Given the description of an element on the screen output the (x, y) to click on. 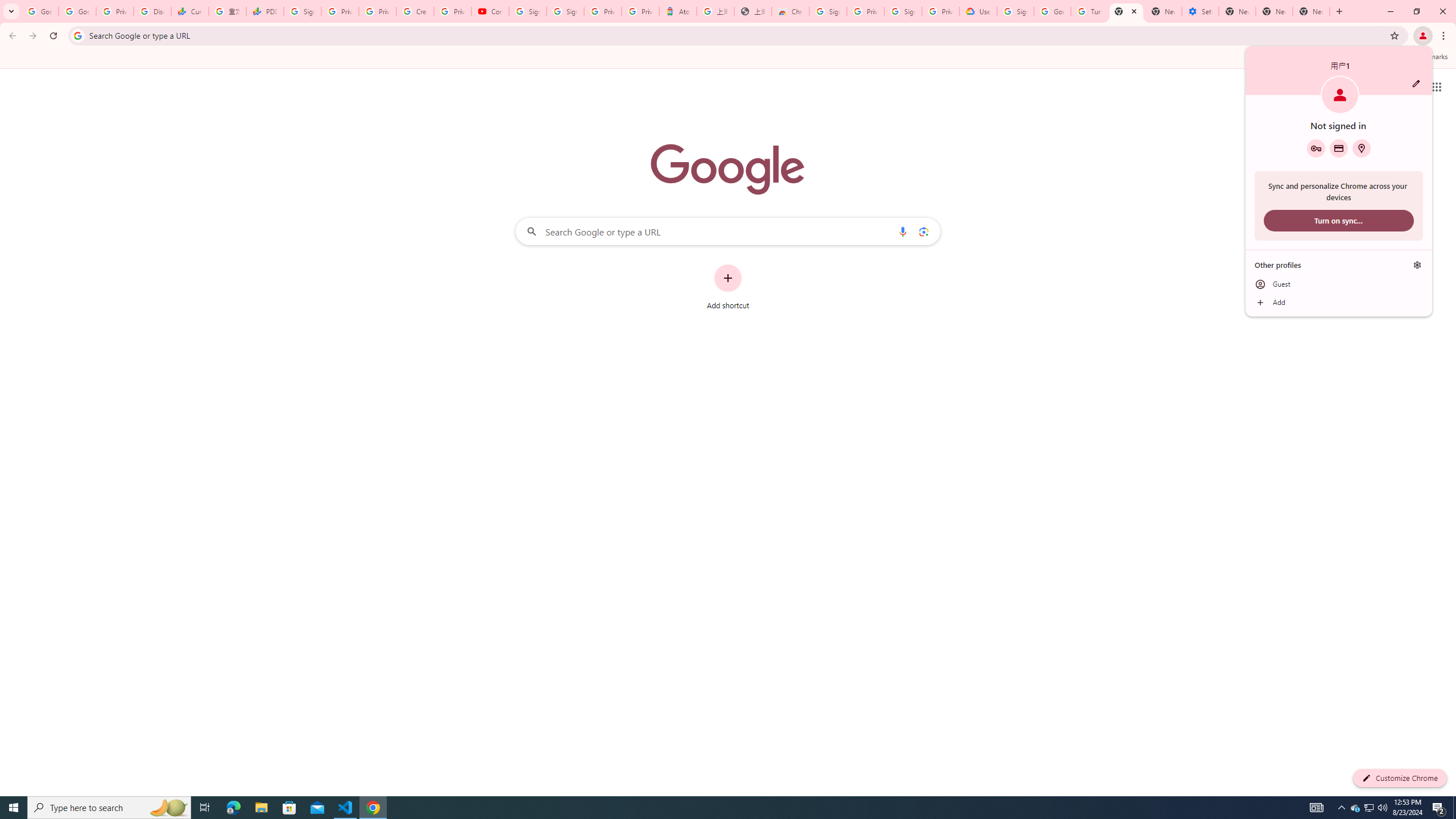
Google Chrome - 1 running window (373, 807)
Search Google or type a URL (727, 230)
Add (1338, 302)
AutomationID: 4105 (1316, 807)
Guest (1338, 284)
Running applications (717, 807)
Customize profile (1415, 83)
Addresses and more (1361, 148)
Start (13, 807)
